Given the description of an element on the screen output the (x, y) to click on. 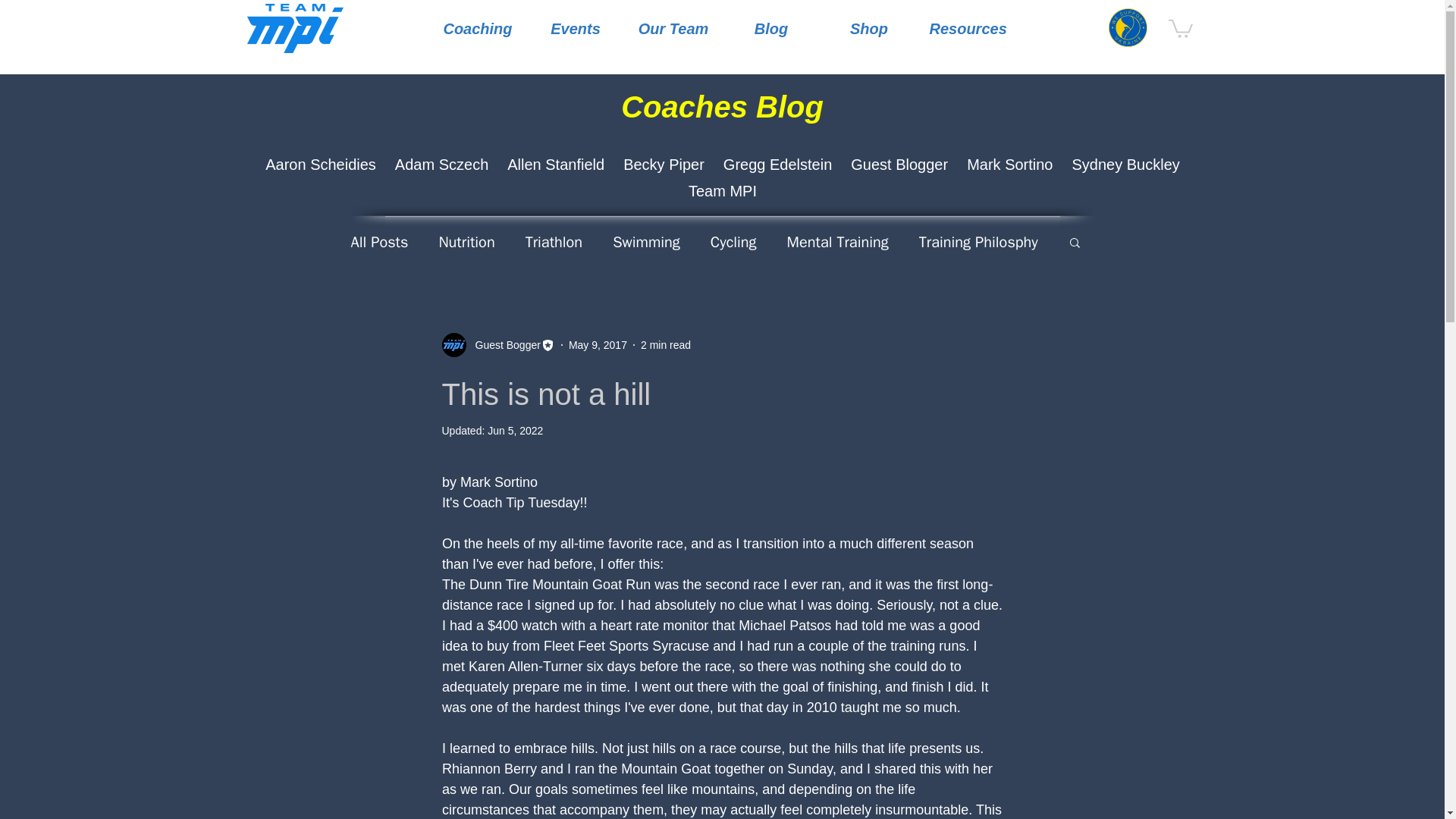
Becky Piper (663, 164)
Gregg Edelstein (777, 164)
Allen Stanfield (555, 164)
Adam Sczech (440, 164)
Guest Bogger (502, 344)
Aaron Scheidies (319, 164)
Our Team (673, 28)
Nutrition (466, 241)
Coaching (478, 28)
May 9, 2017 (598, 344)
